Given the description of an element on the screen output the (x, y) to click on. 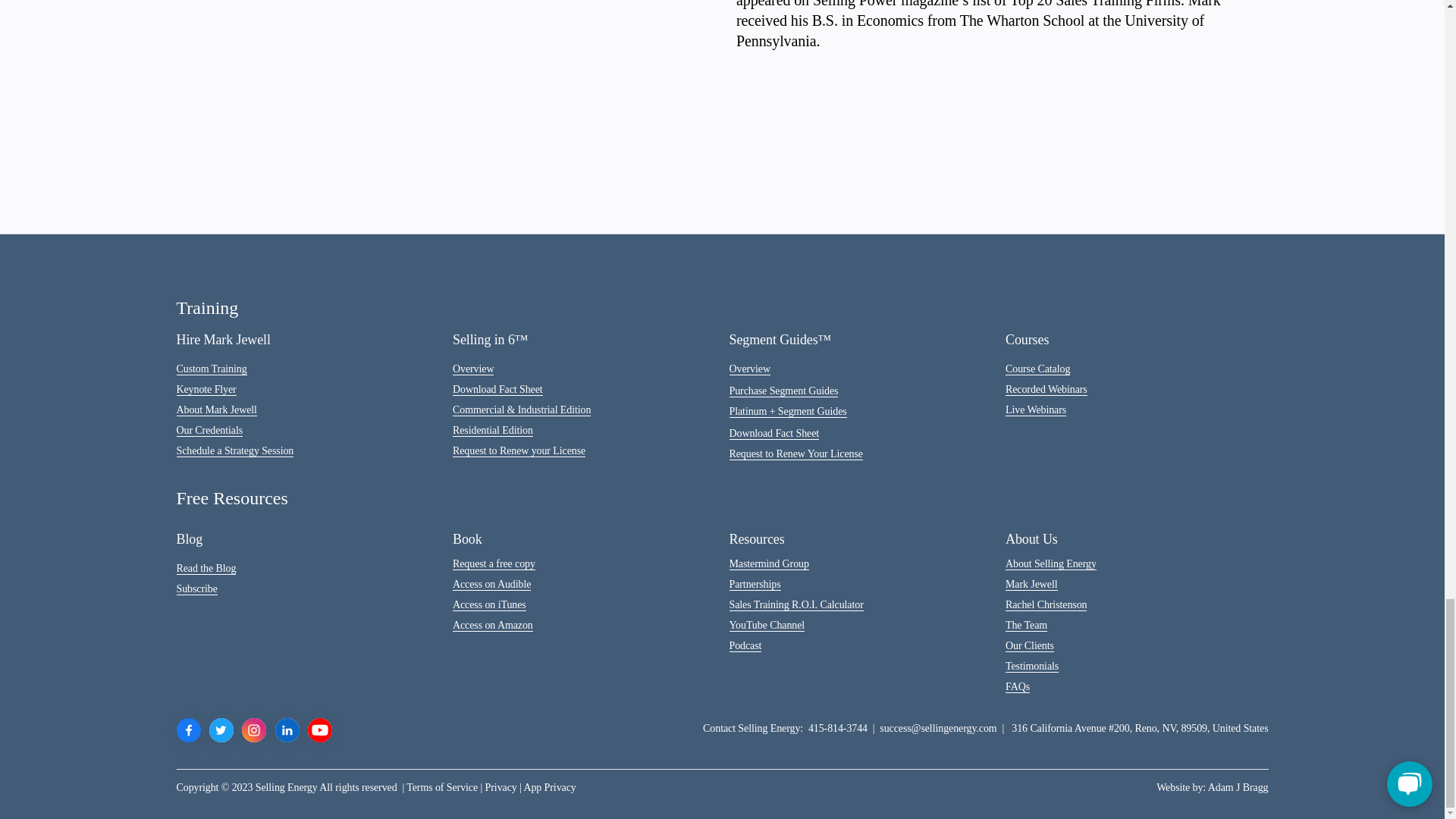
Keynote Flyer (205, 389)
Overview (472, 369)
Request a free copy (493, 563)
Live Webinars (1035, 410)
Read the Blog (205, 568)
Course Catalog (1038, 369)
Recorded Webinars (1046, 389)
Schedule a Strategy Session (235, 451)
Subscribe (196, 589)
Purchase Segment Guides (783, 390)
Download Fact Sheet (774, 433)
Request to Renew your License (518, 451)
Custom Training (211, 369)
Our Credentials (209, 430)
Residential Edition (492, 430)
